Given the description of an element on the screen output the (x, y) to click on. 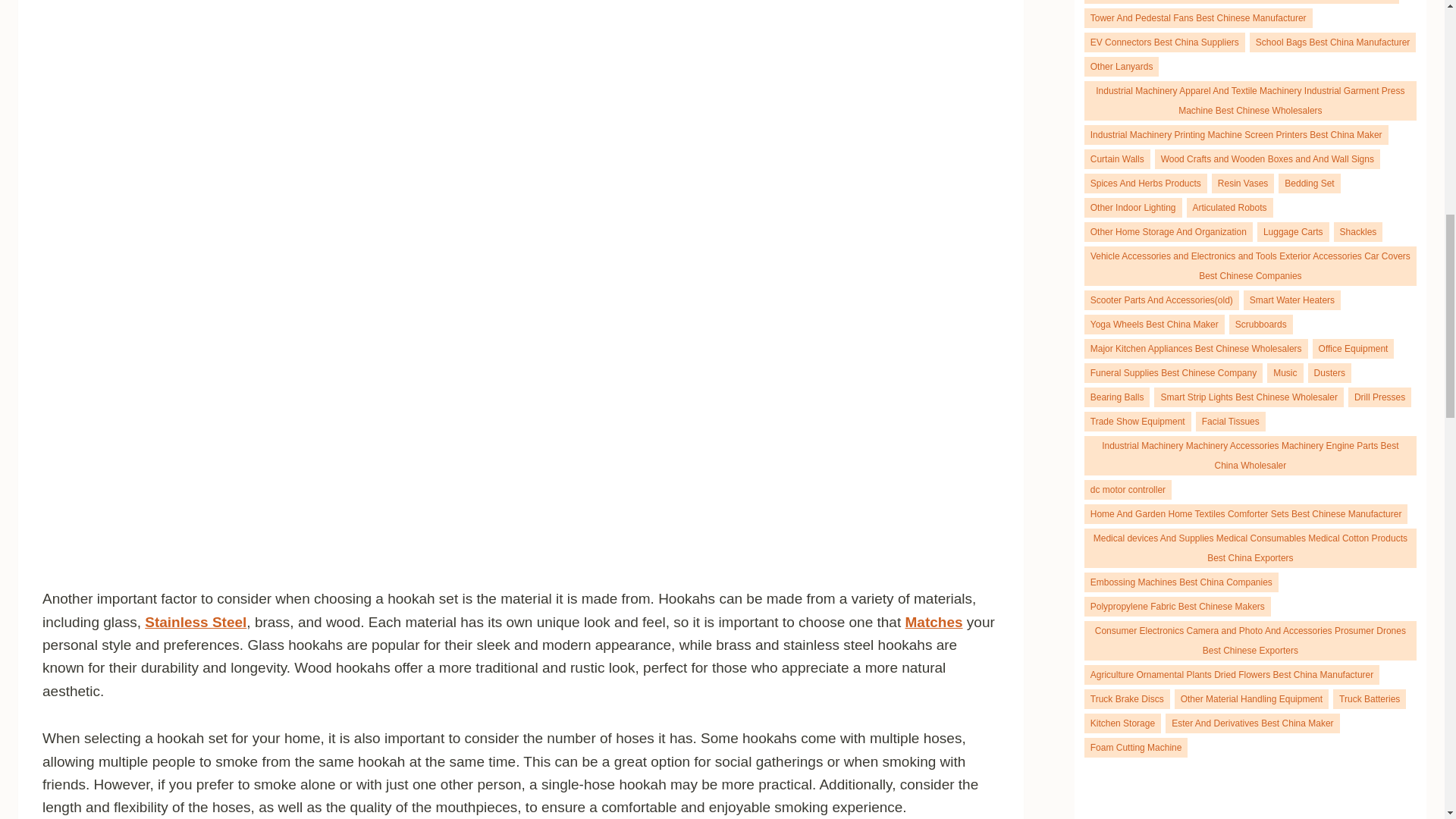
Matches (933, 621)
Stainless Steel (195, 621)
